Given the description of an element on the screen output the (x, y) to click on. 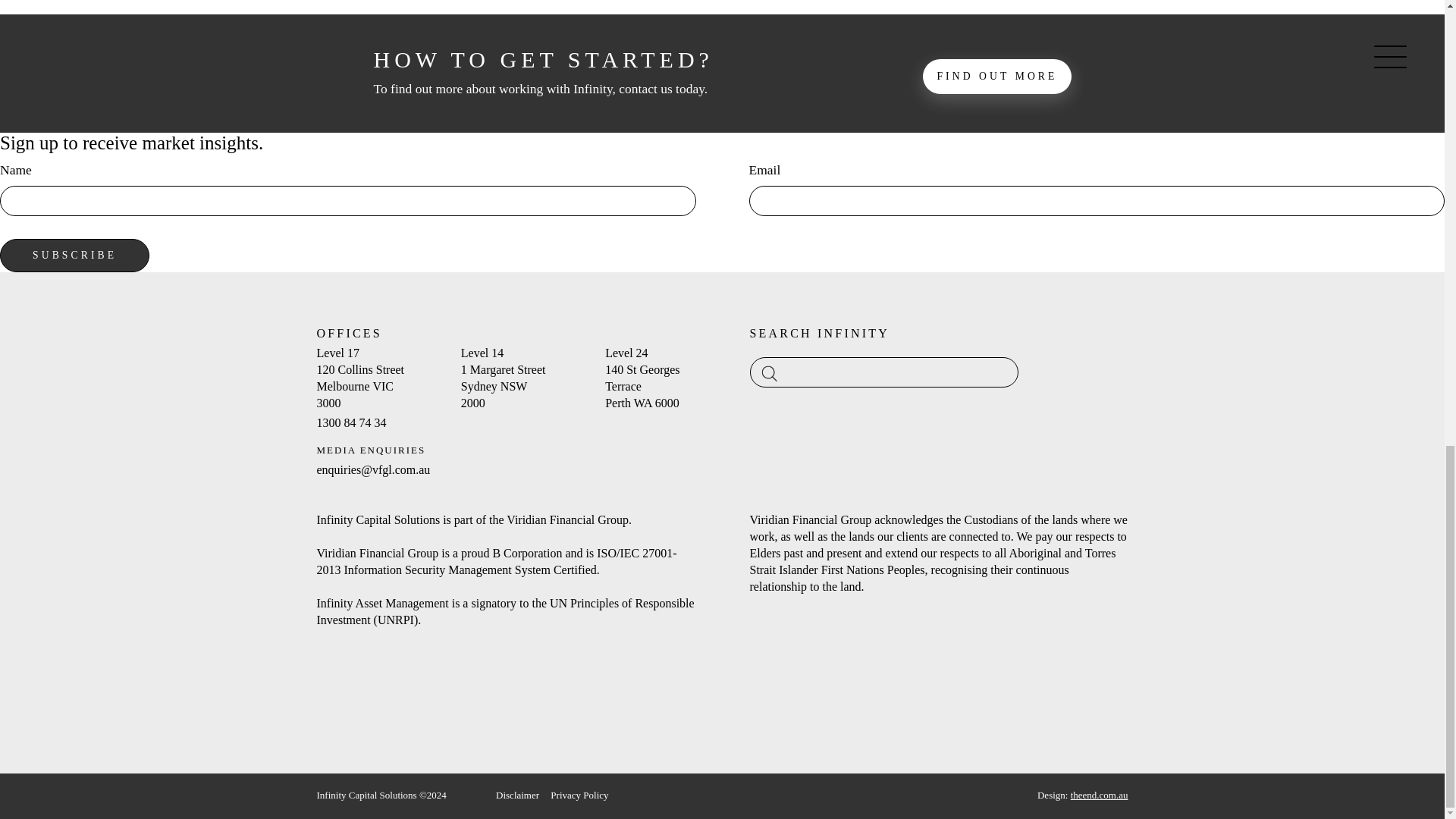
Subscribe (74, 255)
